Given the description of an element on the screen output the (x, y) to click on. 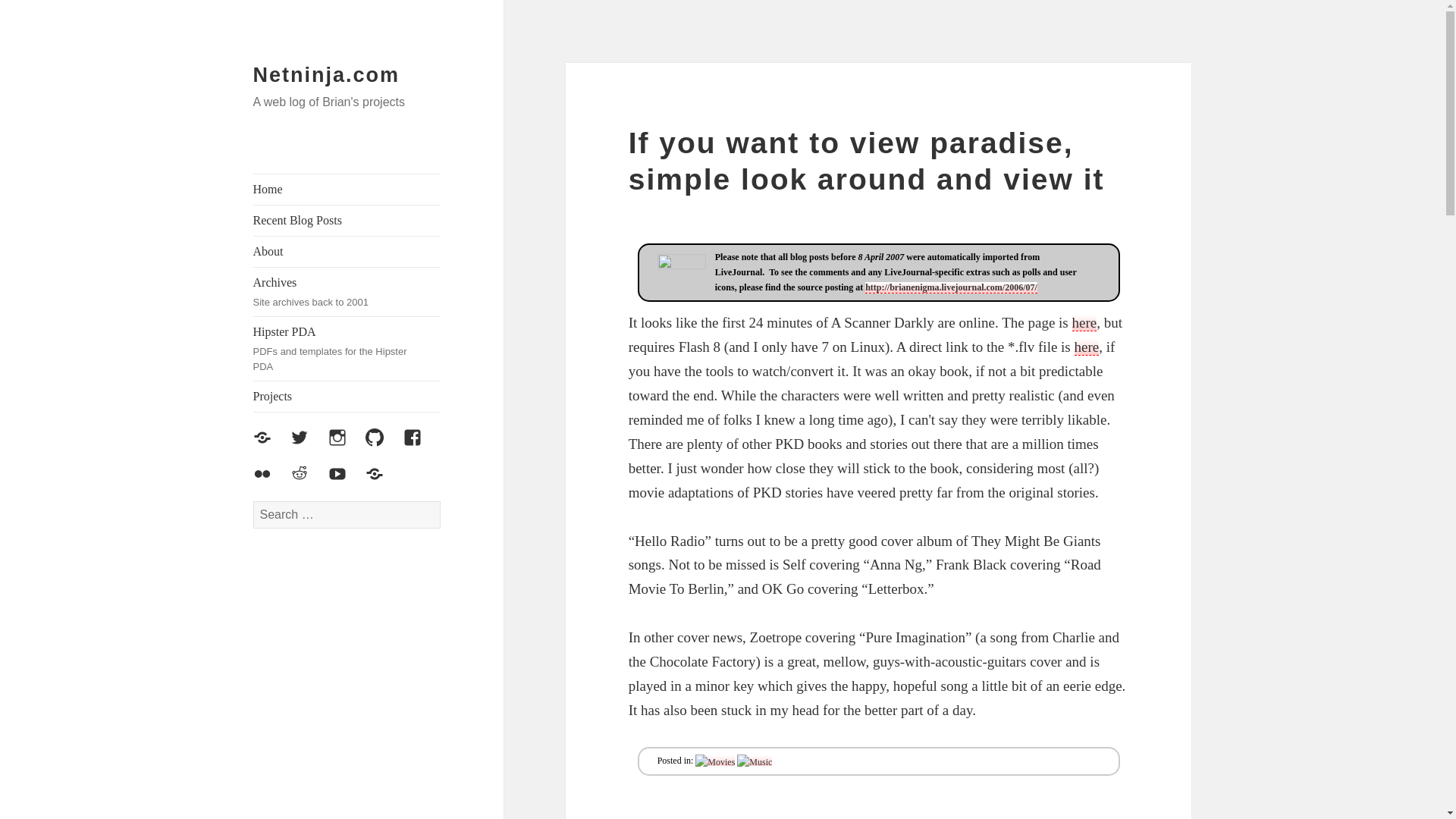
Movies (715, 761)
About (347, 251)
Home (347, 348)
Search (347, 189)
Netninja.com (753, 761)
Recent Blog Posts (326, 74)
